Given the description of an element on the screen output the (x, y) to click on. 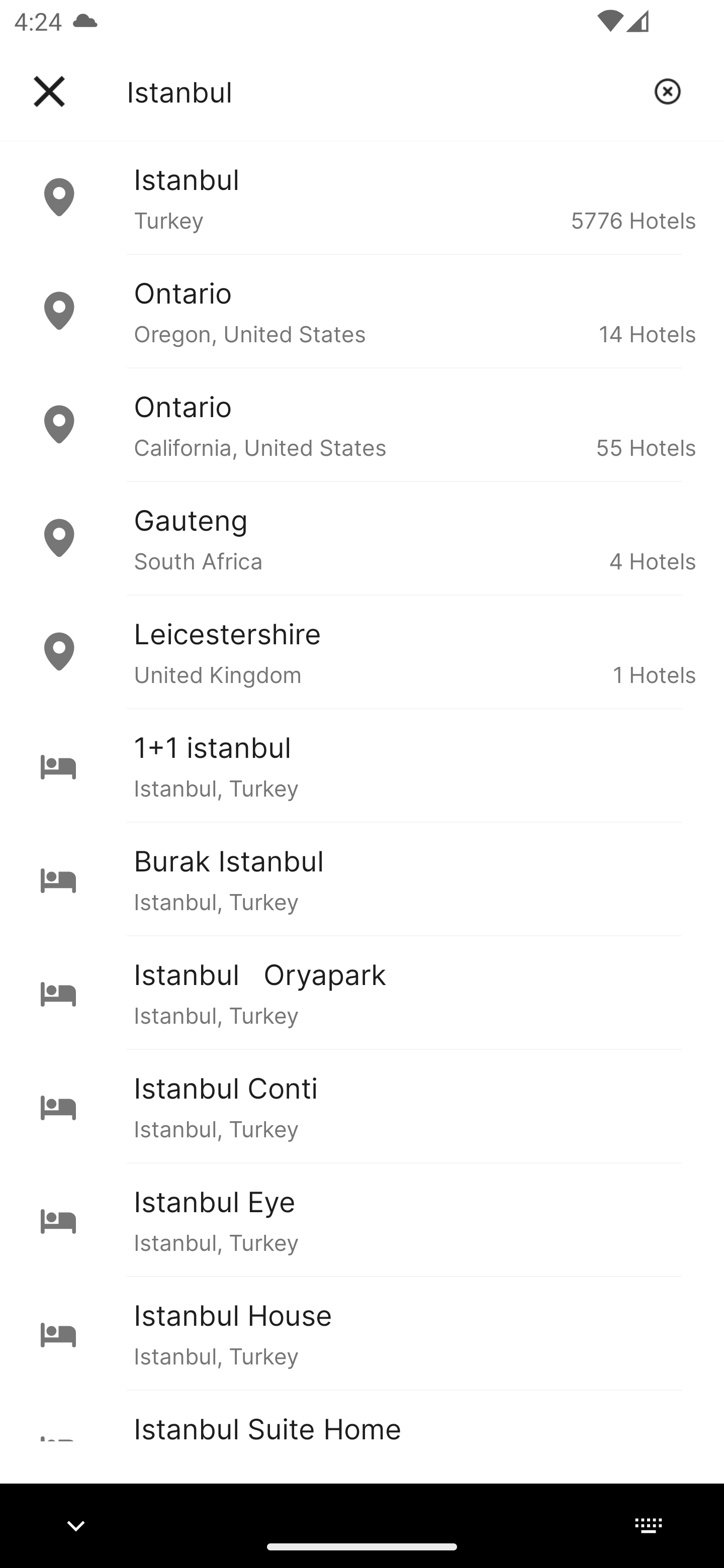
Istanbul (382, 91)
Istanbul Turkey 5776 Hotels (362, 197)
Ontario Oregon, United States 14 Hotels (362, 310)
Ontario California, United States 55 Hotels (362, 424)
Gauteng South Africa 4 Hotels (362, 537)
Leicestershire United Kingdom 1 Hotels (362, 651)
1+1 istanbul Istanbul, Turkey (362, 764)
Burak Istanbul Istanbul, Turkey (362, 878)
Istanbul   Oryapark Istanbul, Turkey (362, 992)
Istanbul Conti Istanbul, Turkey (362, 1105)
Istanbul Eye Istanbul, Turkey (362, 1219)
Istanbul House Istanbul, Turkey (362, 1332)
